Given the description of an element on the screen output the (x, y) to click on. 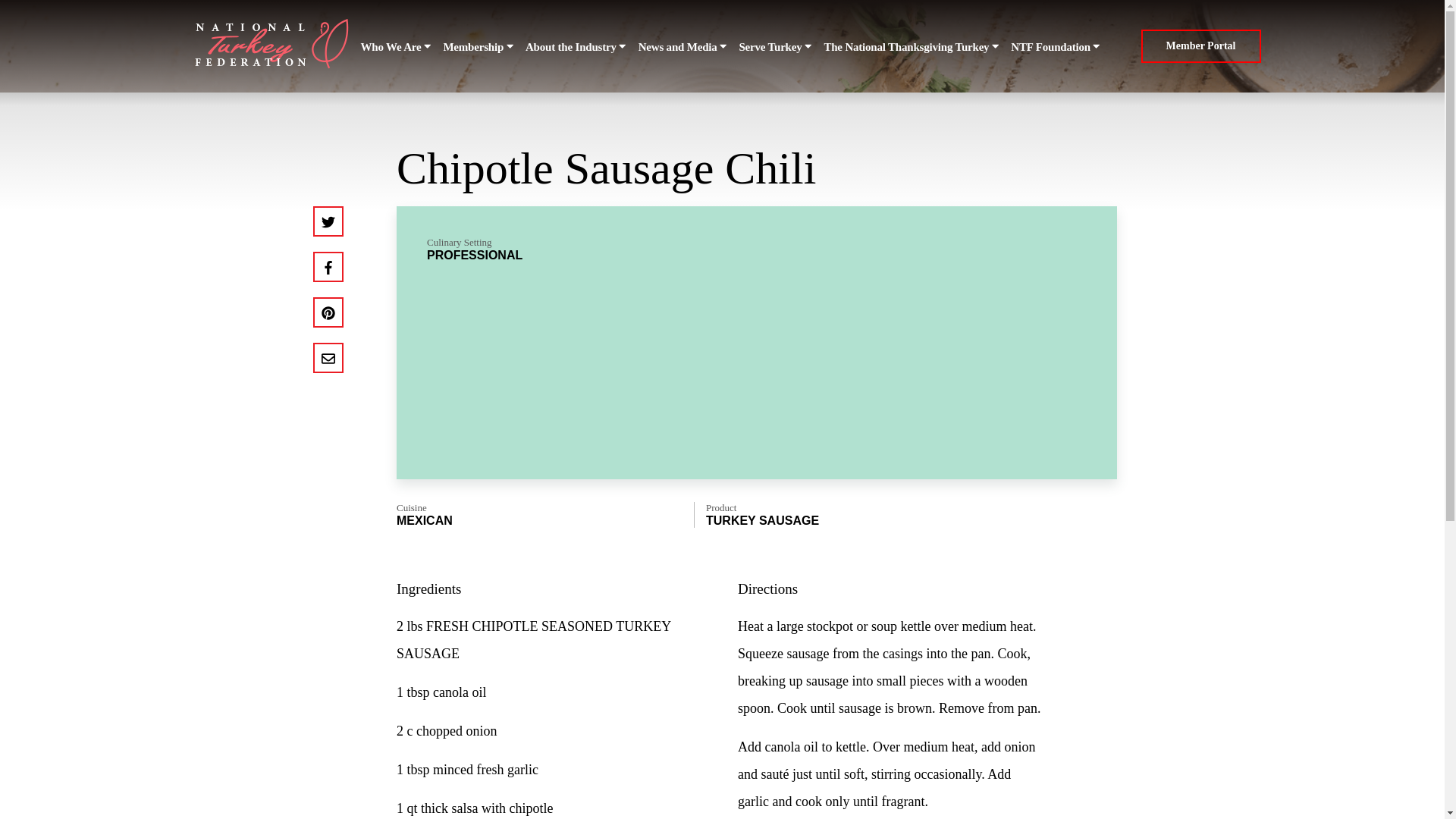
NTF Foundation (1055, 46)
Who We Are (395, 46)
Membership (477, 46)
Serve Turkey (774, 46)
The National Thanksgiving Turkey (911, 46)
About the Industry (575, 46)
News and Media (682, 46)
